Given the description of an element on the screen output the (x, y) to click on. 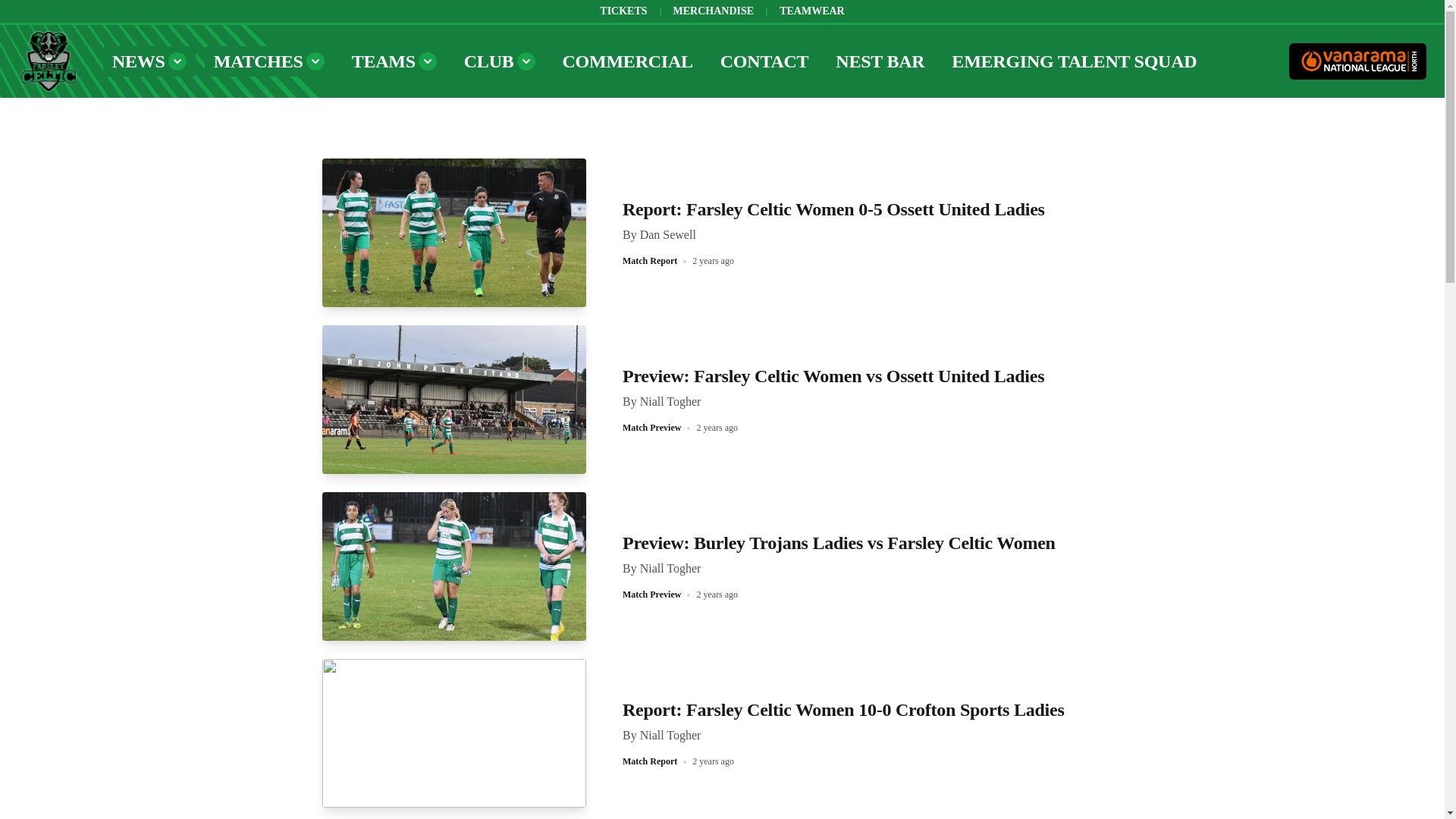
MERCHANDISE (713, 10)
TEAMWEAR (811, 10)
TICKETS (622, 10)
NEWS (149, 60)
